Given the description of an element on the screen output the (x, y) to click on. 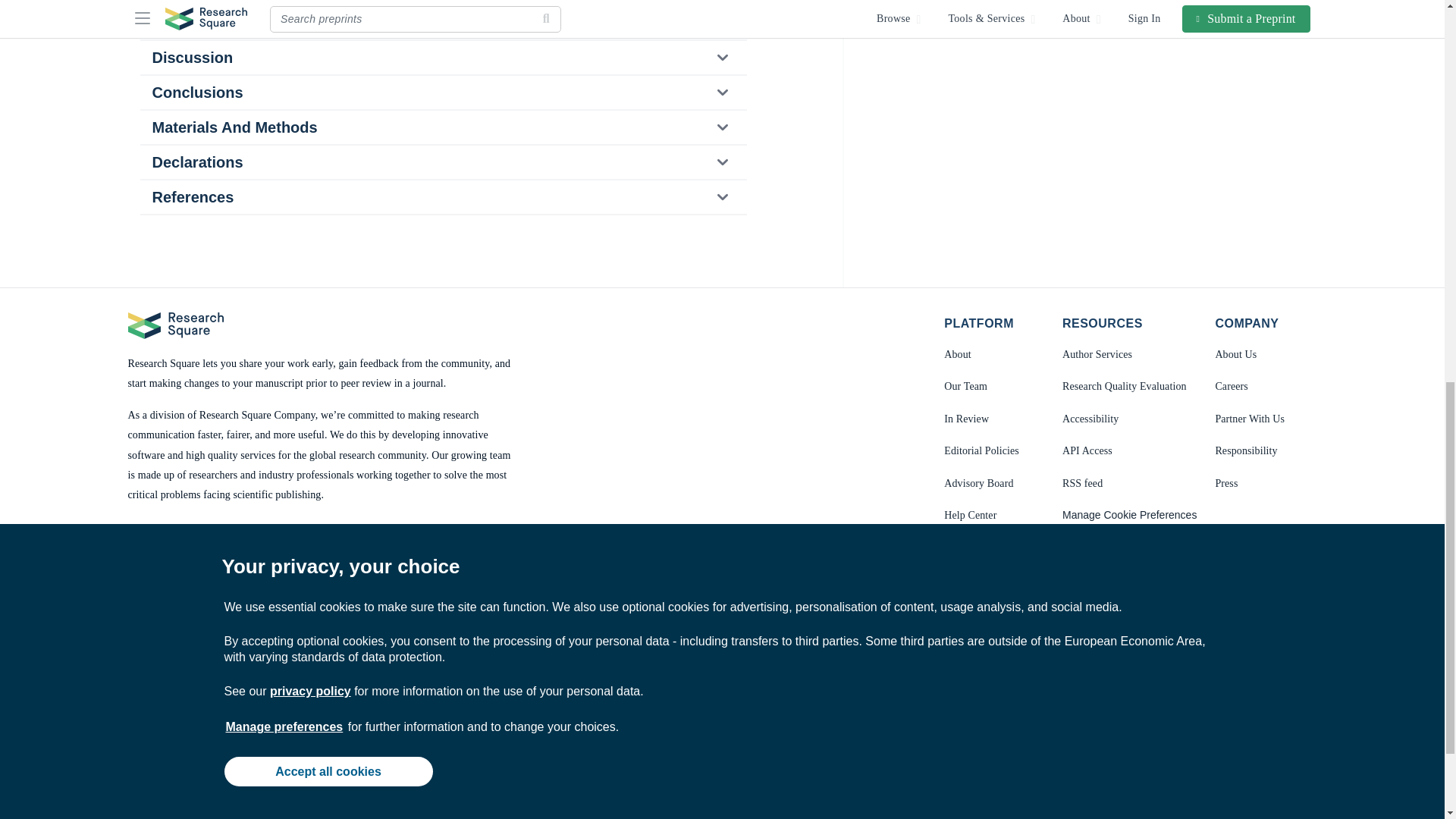
Conclusions (442, 92)
References (442, 196)
Results (442, 22)
Materials And Methods (442, 127)
Declarations (442, 162)
Discussion (442, 57)
